Given the description of an element on the screen output the (x, y) to click on. 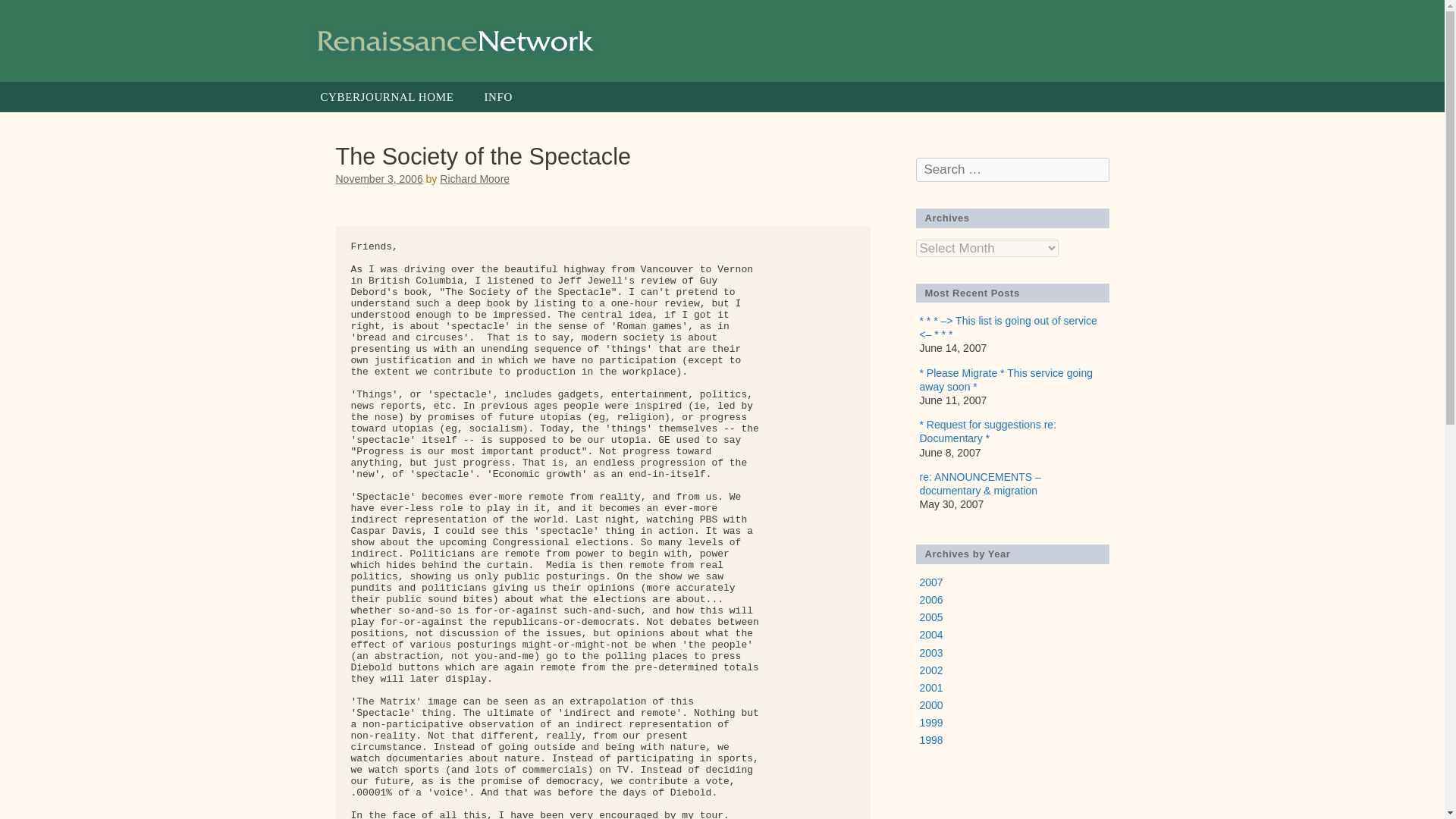
2002 (930, 670)
CYBERJOURNAL HOME (386, 96)
Search for: (1012, 169)
2006 (930, 599)
Search (36, 15)
November 3, 2006 (378, 178)
1998 (930, 739)
2000 (930, 705)
2007 (930, 582)
2004 (930, 634)
2003 (930, 652)
Richard Moore (474, 178)
12:00 am (378, 178)
1999 (930, 722)
View all posts by Richard Moore (474, 178)
